Given the description of an element on the screen output the (x, y) to click on. 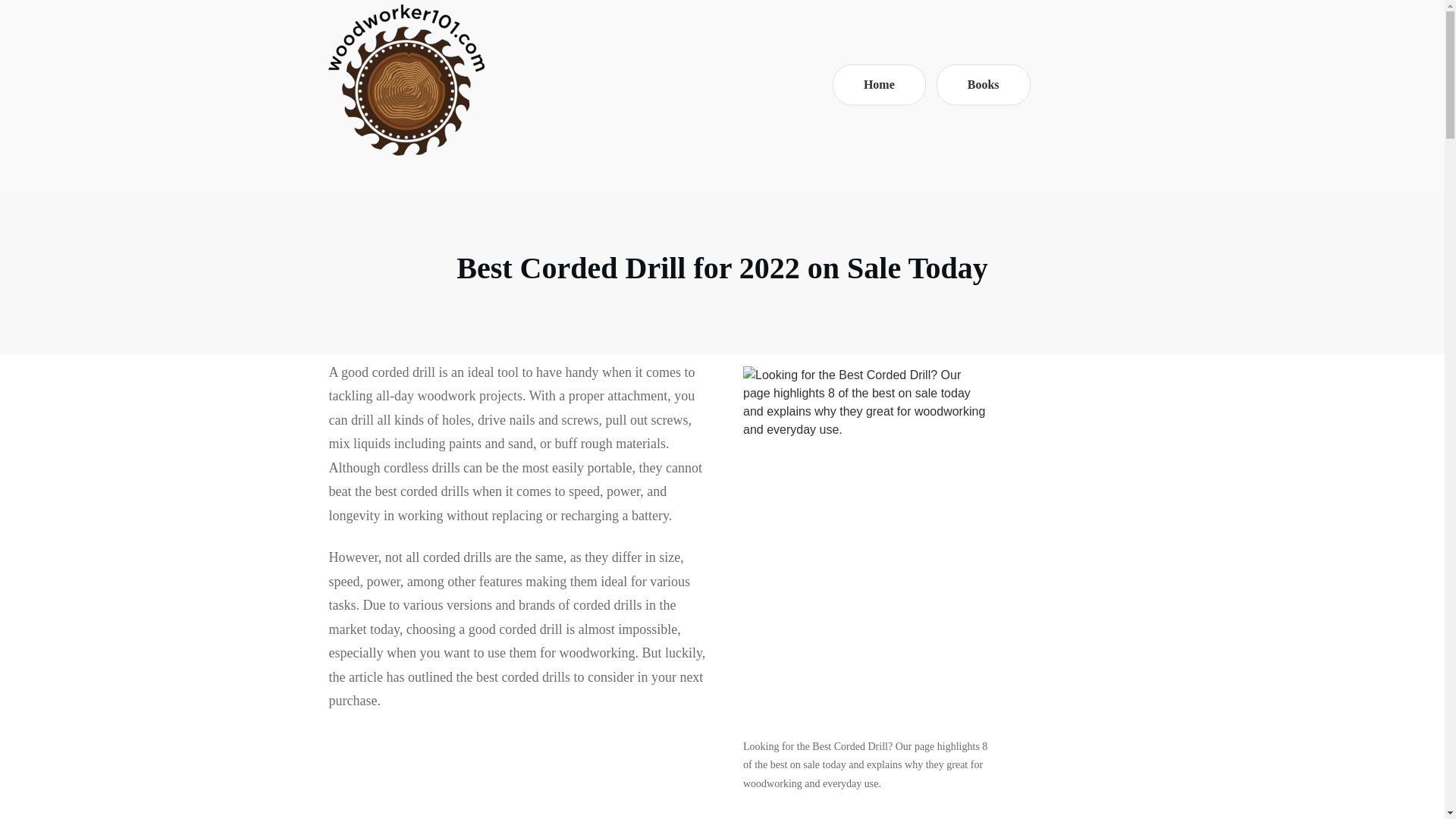
Best Corded Drill for 2022 on Sale Today (722, 267)
Books (983, 84)
Best Corded Drill for 2022 on Sale Today (722, 267)
Home (879, 84)
